Given the description of an element on the screen output the (x, y) to click on. 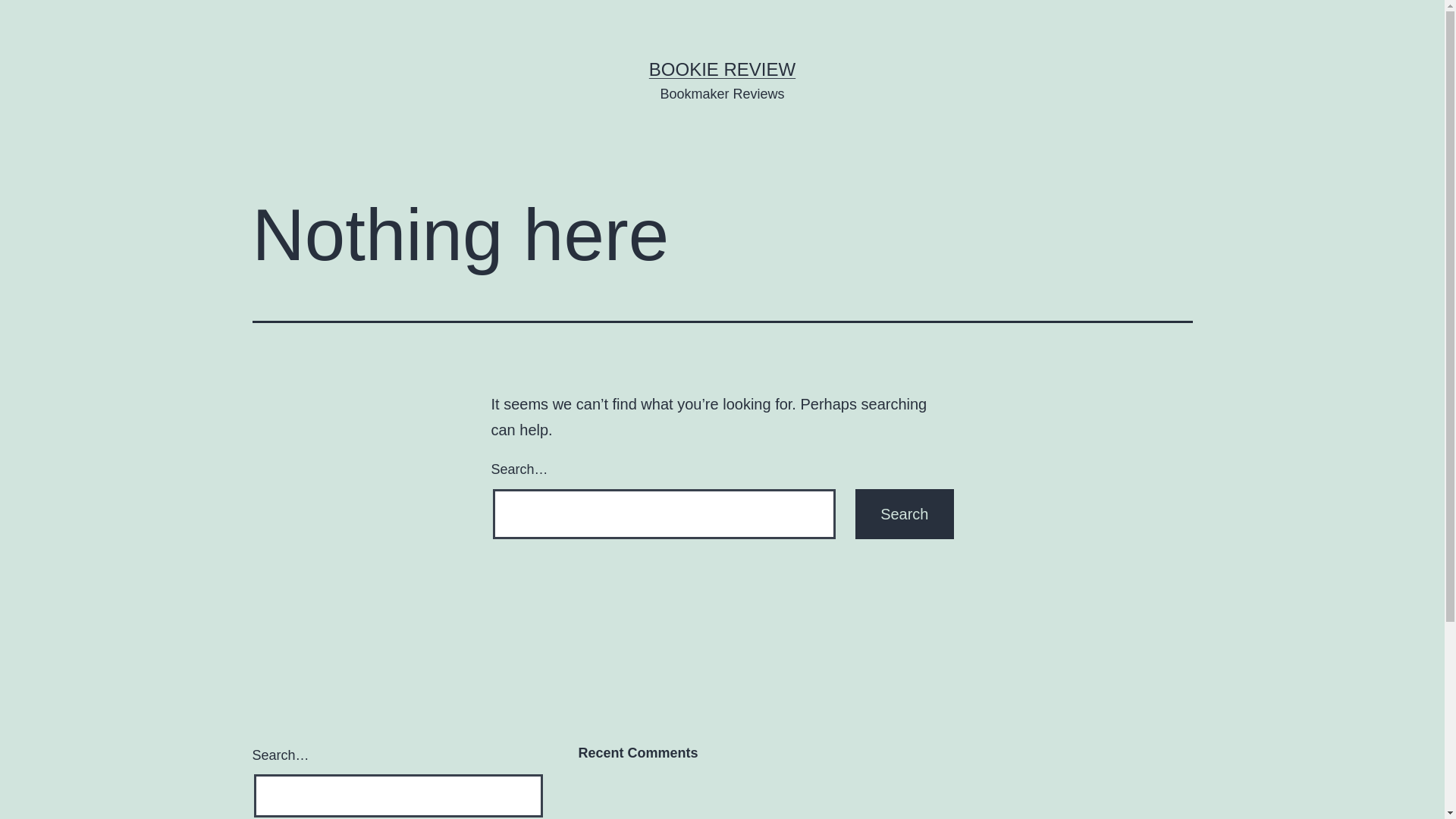
BOOKIE REVIEW Element type: text (722, 69)
Search Element type: text (904, 514)
